Given the description of an element on the screen output the (x, y) to click on. 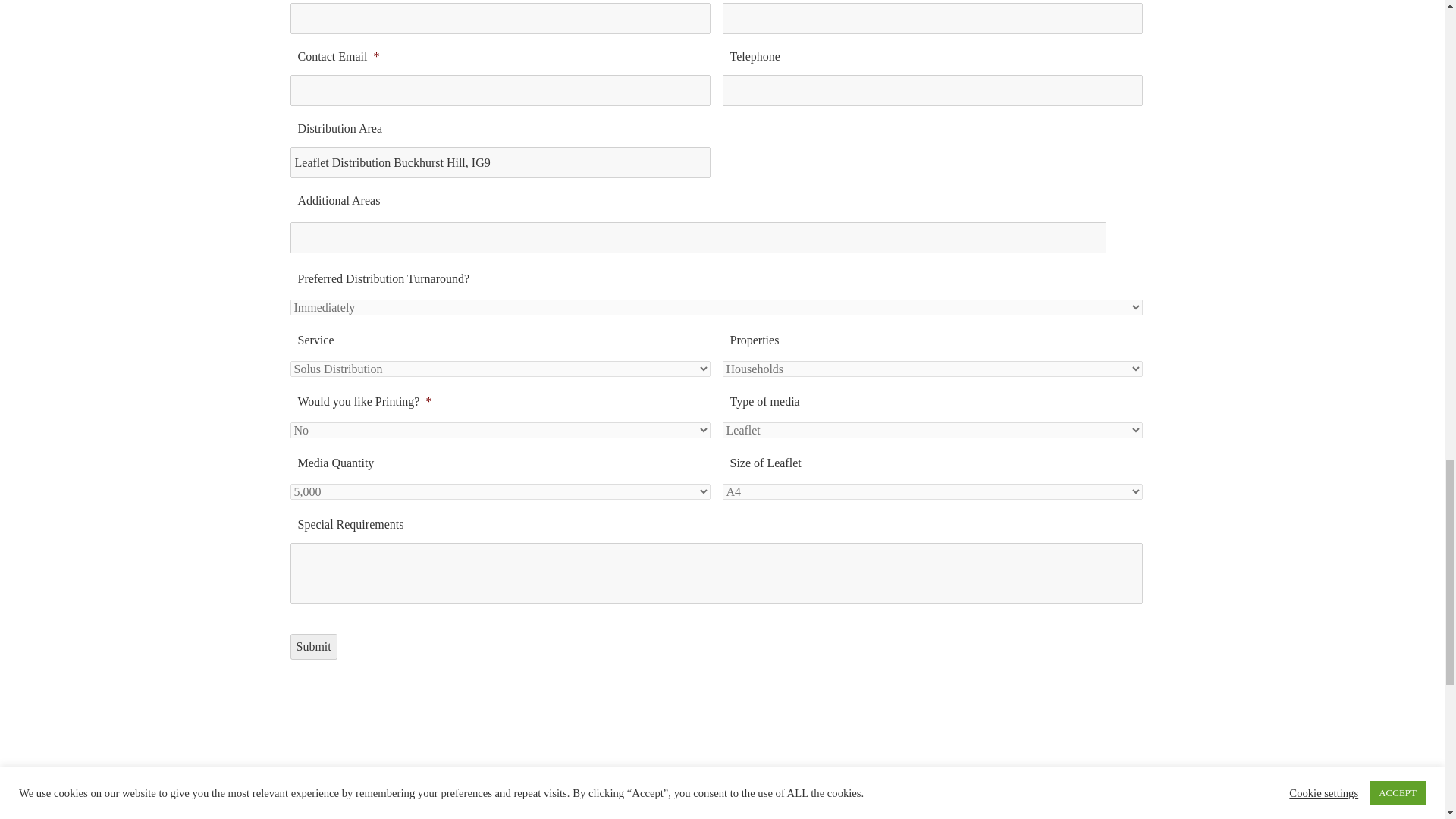
Add a new row (1114, 239)
Submit (312, 646)
Submit (312, 646)
Leaflet Distribution Buckhurst Hill, IG9 (499, 162)
